Given the description of an element on the screen output the (x, y) to click on. 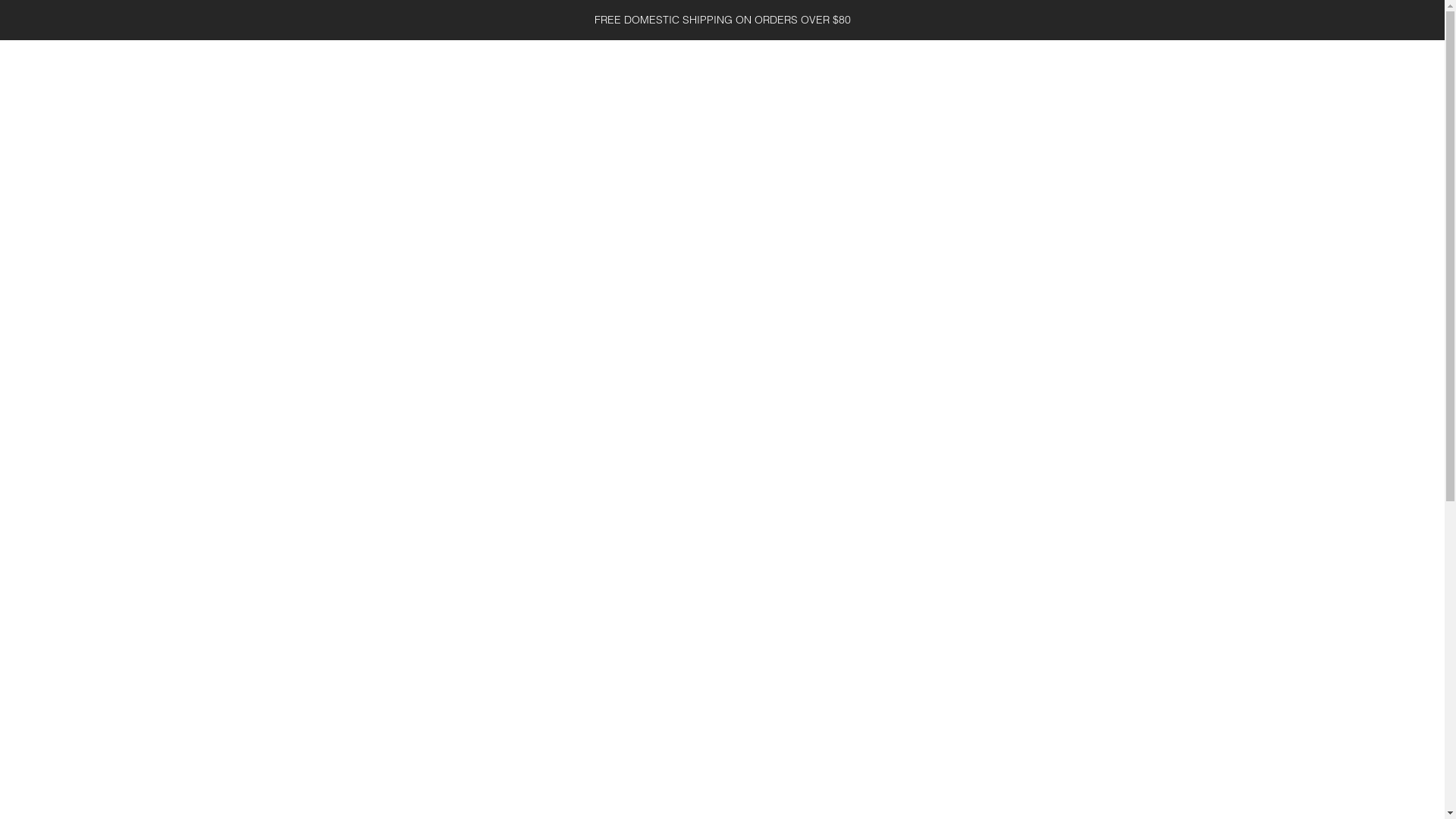
FREE DOMESTIC SHIPPING ON ORDERS OVER $80 Element type: text (722, 20)
Add to cart Element type: text (828, 558)
